Given the description of an element on the screen output the (x, y) to click on. 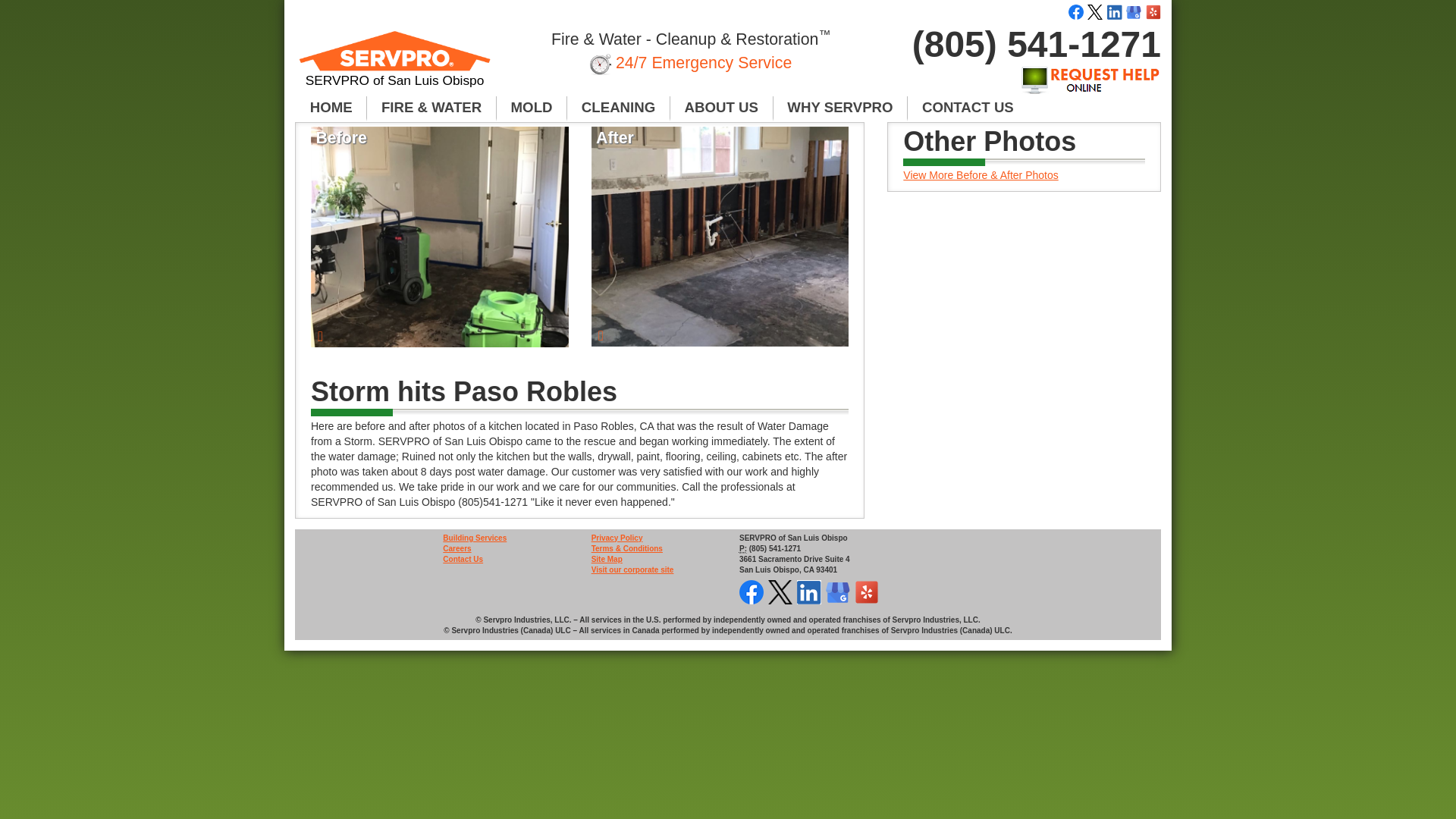
HOME (330, 108)
ABOUT US (721, 108)
CLEANING (618, 108)
SERVPRO of San Luis Obispo (395, 65)
MOLD (531, 108)
